Given the description of an element on the screen output the (x, y) to click on. 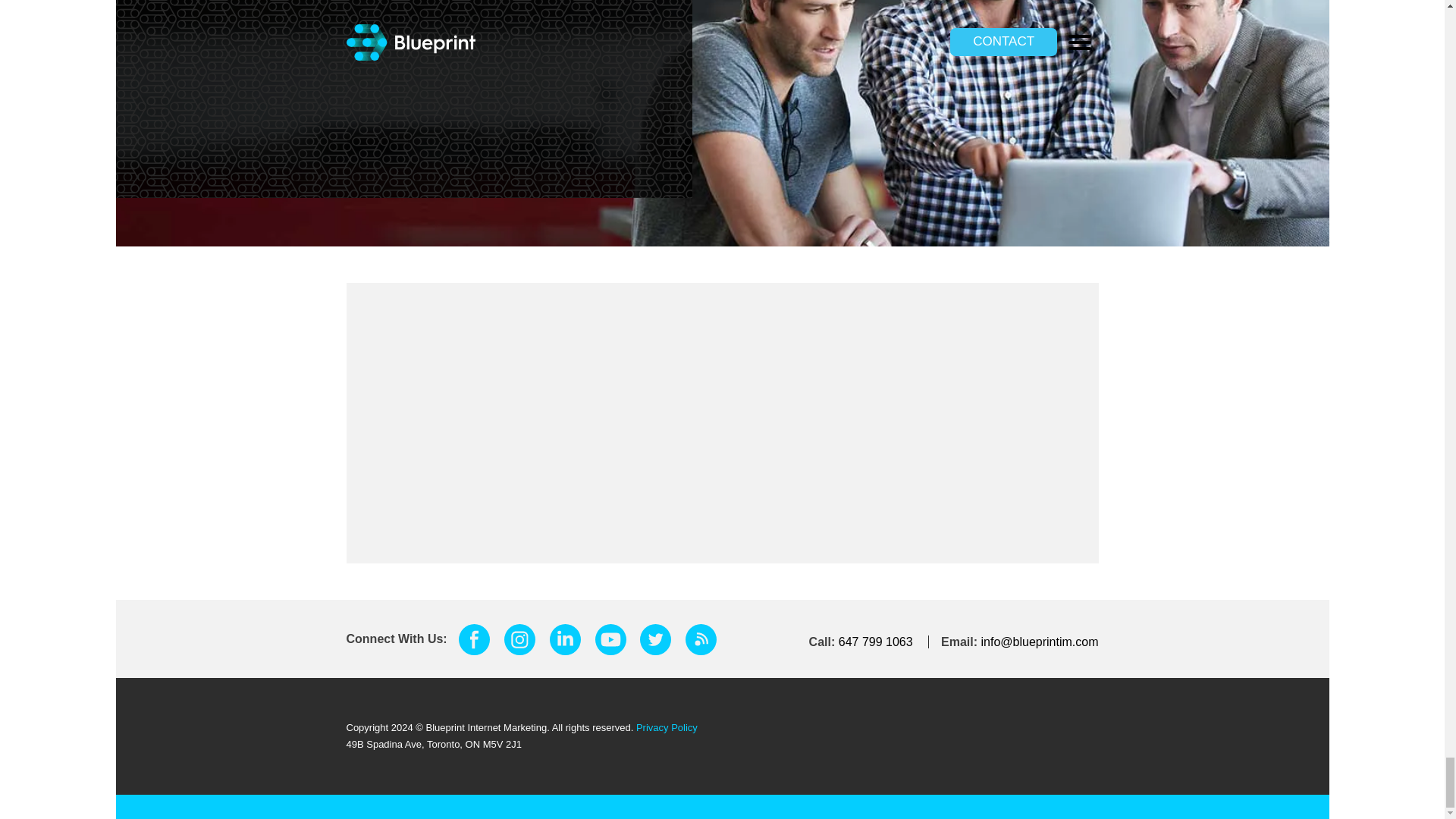
Book Strategy Session (494, 350)
